Given the description of an element on the screen output the (x, y) to click on. 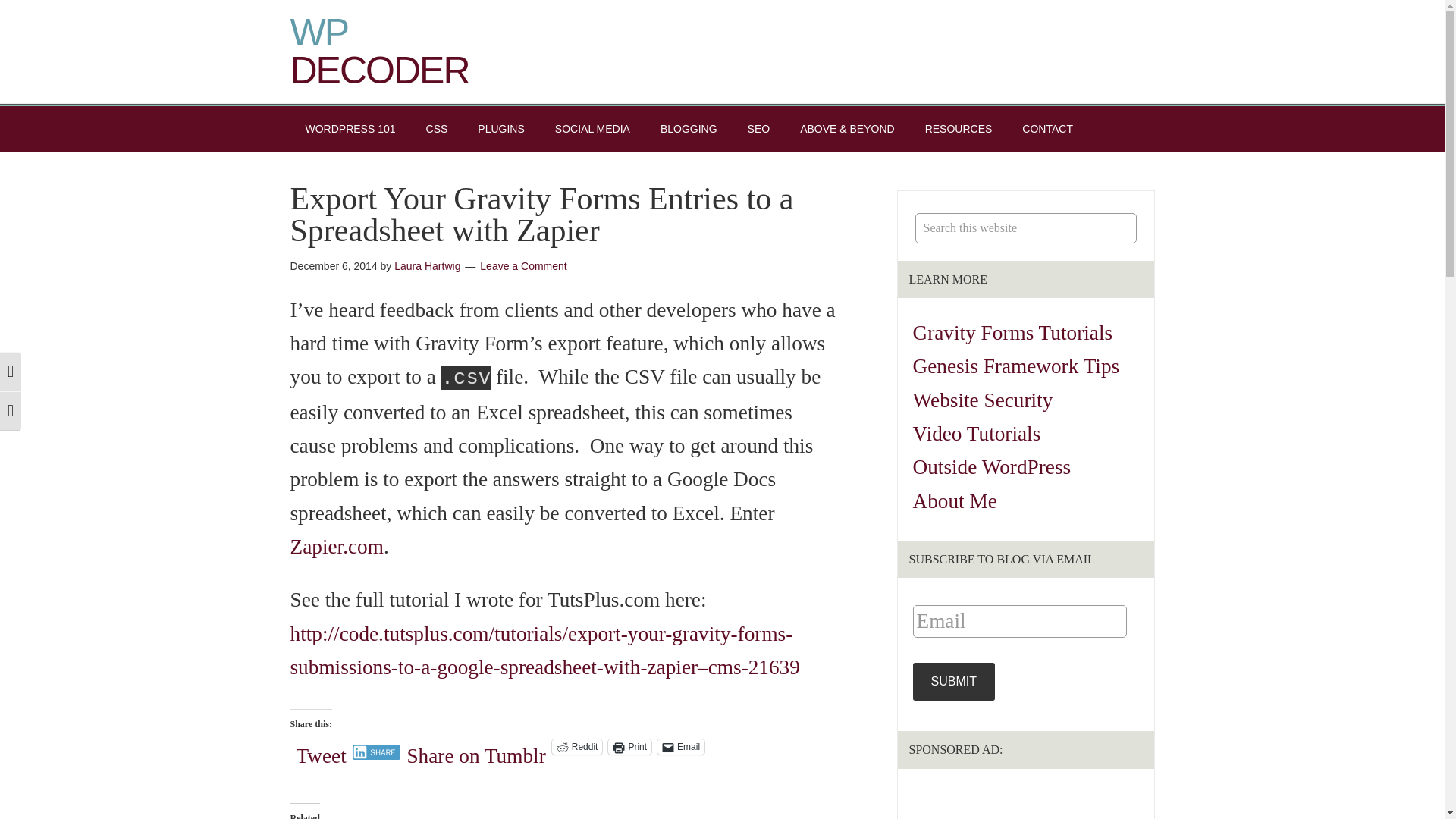
RESOURCES (958, 129)
BLOGGING (688, 129)
WP DECODER (378, 51)
Video Tutorials (976, 433)
SEO (759, 129)
Gravity Forms Tutorials (1012, 332)
Genesis Framework Tips (1015, 365)
Share on Tumblr (475, 745)
SOCIAL MEDIA (592, 129)
Submit (953, 681)
CSS (436, 129)
Leave a Comment (523, 265)
WORDPRESS 101 (349, 129)
Website Security (982, 400)
